Given the description of an element on the screen output the (x, y) to click on. 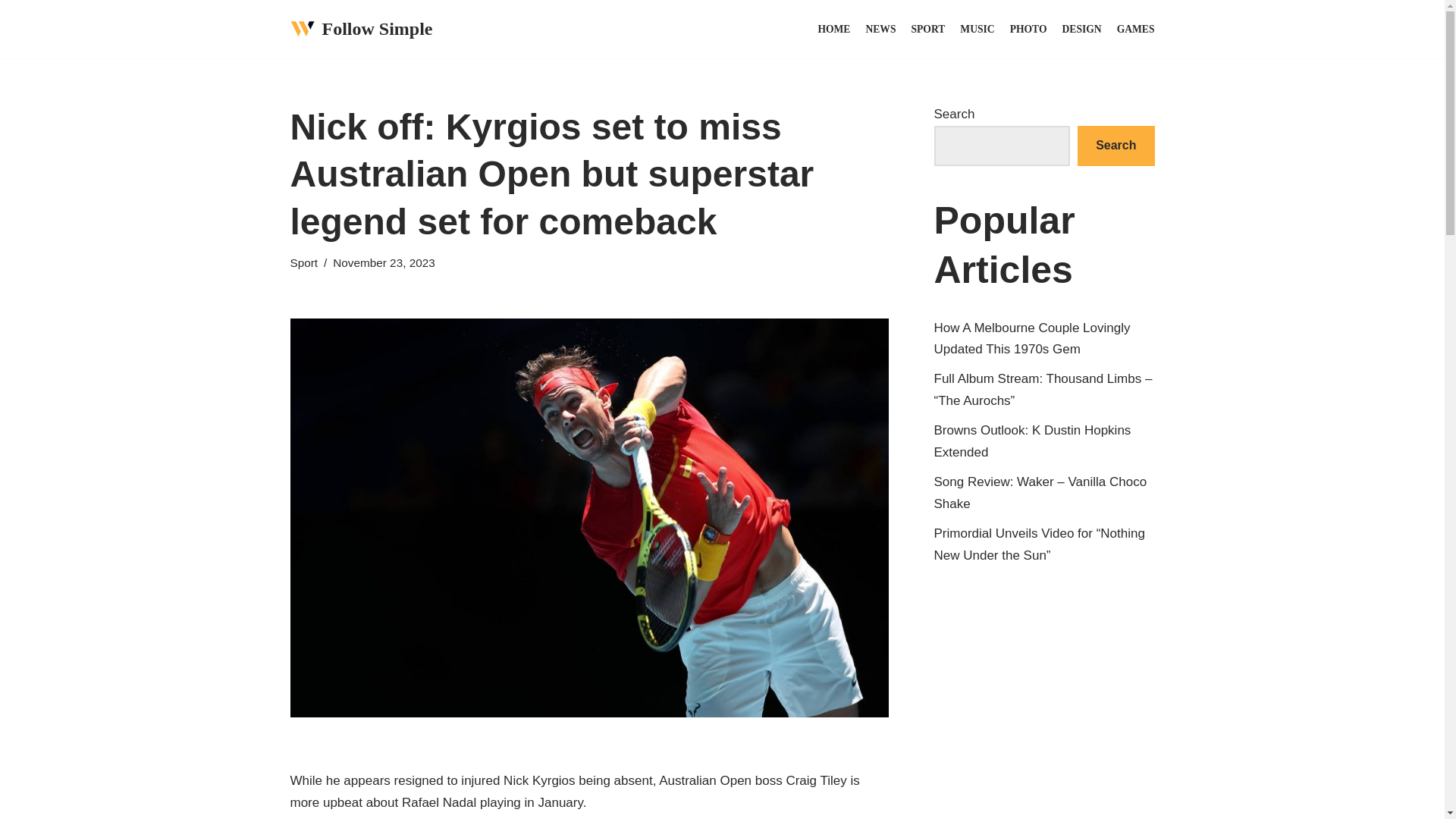
PHOTO (1028, 28)
HOME (833, 28)
Search (1115, 146)
NEWS (879, 28)
GAMES (1135, 28)
DESIGN (1082, 28)
SPORT (927, 28)
Follow Simple (360, 29)
Skip to content (11, 31)
Sport (303, 262)
Follow Simple (360, 29)
How A Melbourne Couple Lovingly Updated This 1970s Gem (1032, 339)
MUSIC (976, 28)
Browns Outlook: K Dustin Hopkins Extended (1032, 441)
